Given the description of an element on the screen output the (x, y) to click on. 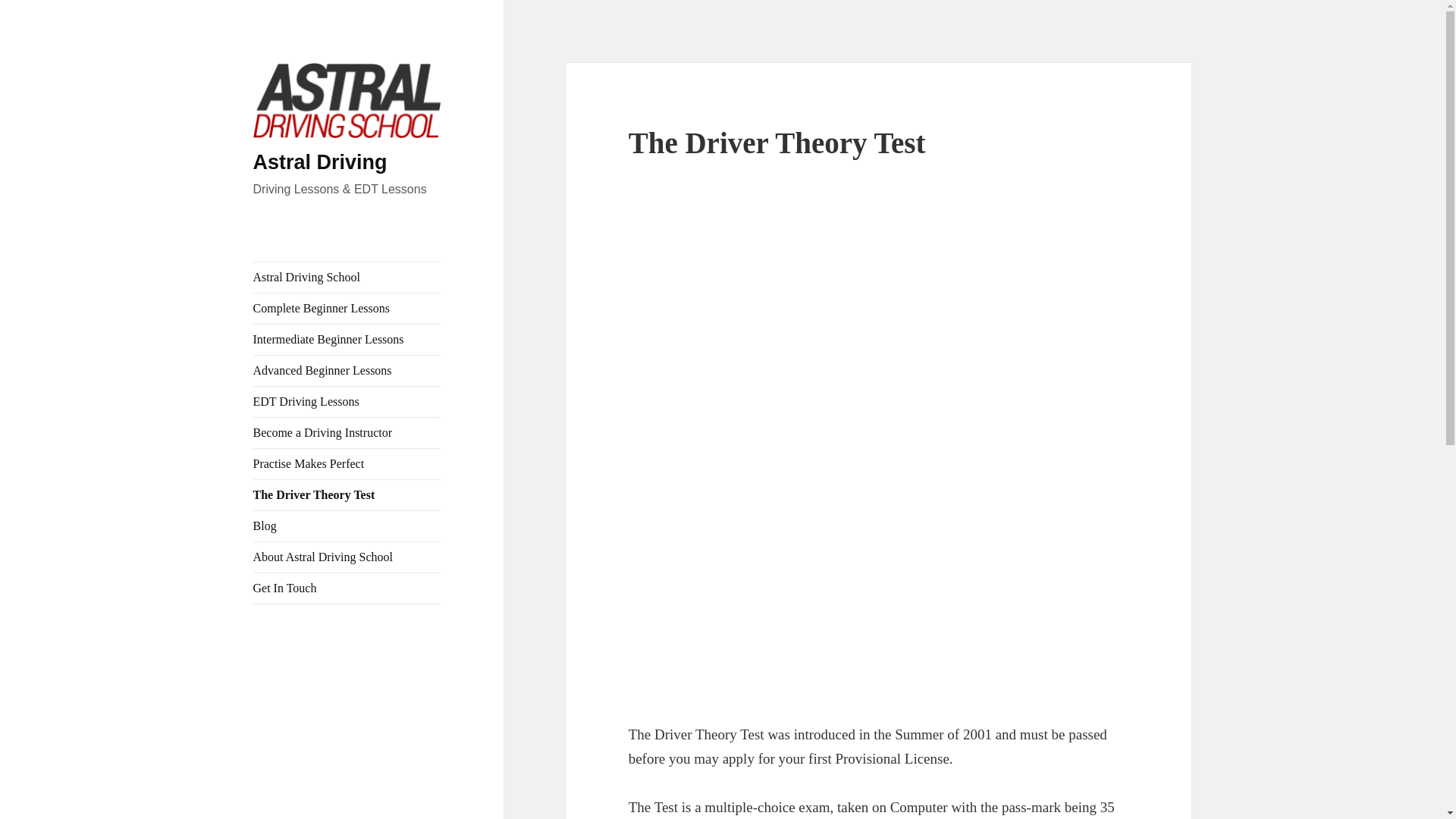
Blog (347, 526)
Intermediate Beginner Lessons (347, 339)
The Driver Theory Test (347, 494)
EDT Driving Lessons (347, 401)
Astral Driving School (347, 277)
Become a Driving Instructor (347, 432)
Practise Makes Perfect (347, 463)
Advanced Beginner Lessons (347, 370)
Get In Touch (347, 588)
Astral Driving (320, 161)
Complete Beginner Lessons (347, 308)
About Astral Driving School (347, 557)
